Given the description of an element on the screen output the (x, y) to click on. 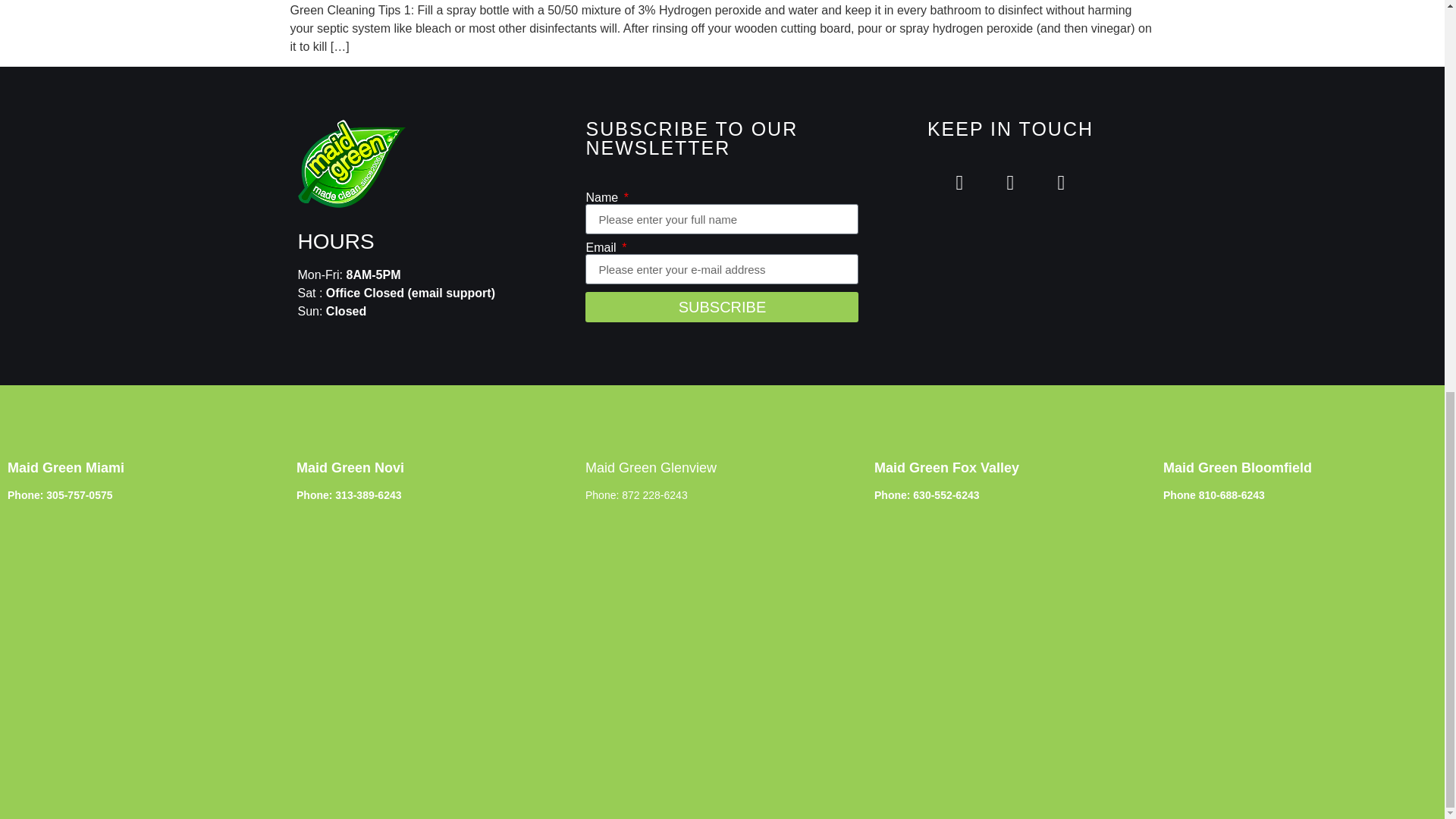
Maid Green Miami (144, 628)
Maid Green Novi (433, 628)
Maid Green Glenview (722, 628)
Maid Green Fox Valley (1011, 628)
Maid Green of bloomfiel (1300, 628)
